Given the description of an element on the screen output the (x, y) to click on. 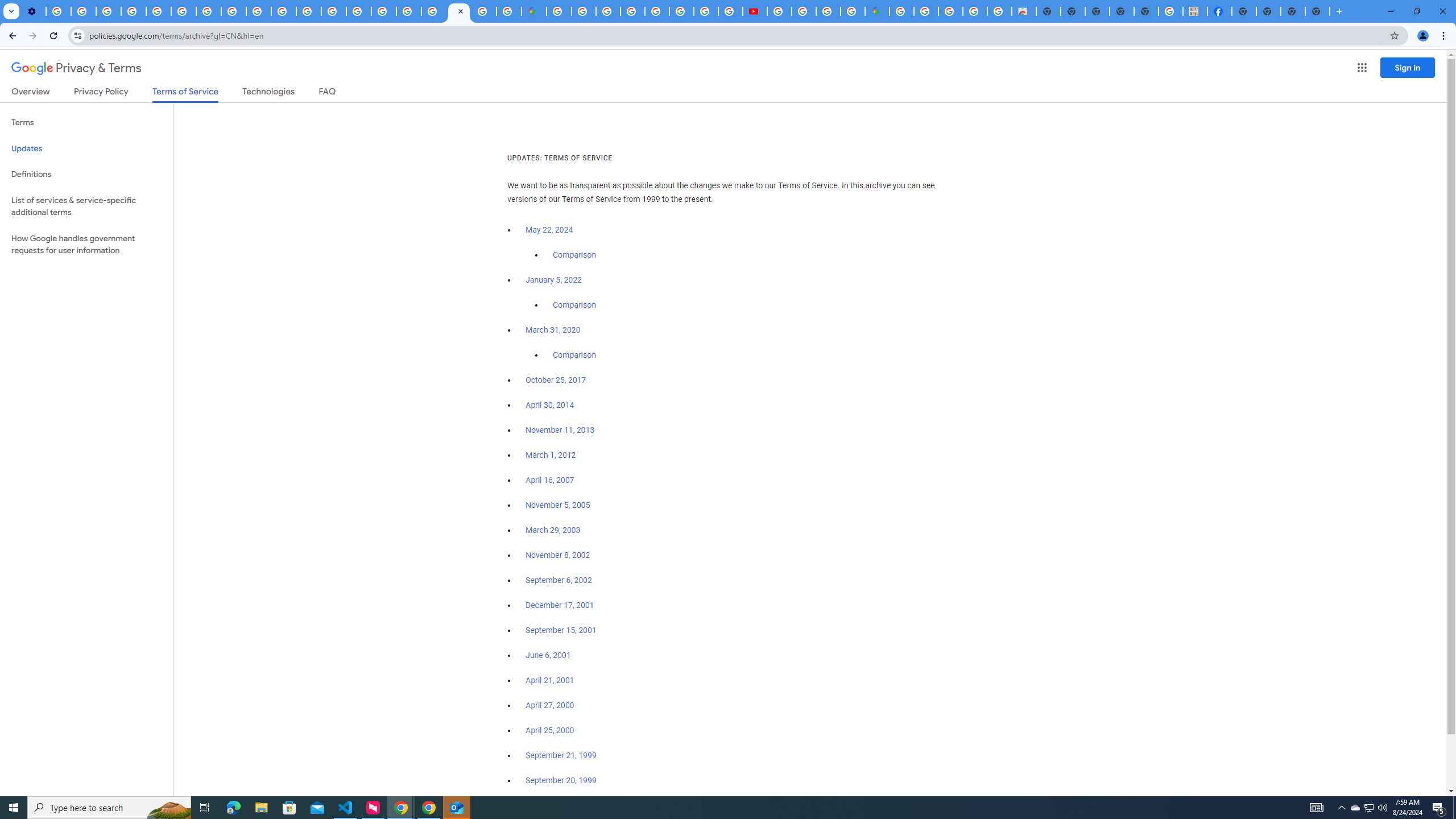
November 11, 2013 (560, 430)
November 5, 2005 (557, 505)
Sign in - Google Accounts (900, 11)
March 29, 2003 (552, 530)
New Tab (1317, 11)
Definitions (86, 174)
MILEY CYRUS. (1194, 11)
October 25, 2017 (555, 380)
Chrome Web Store - Shopping (1023, 11)
Terms and Conditions (656, 11)
